Given the description of an element on the screen output the (x, y) to click on. 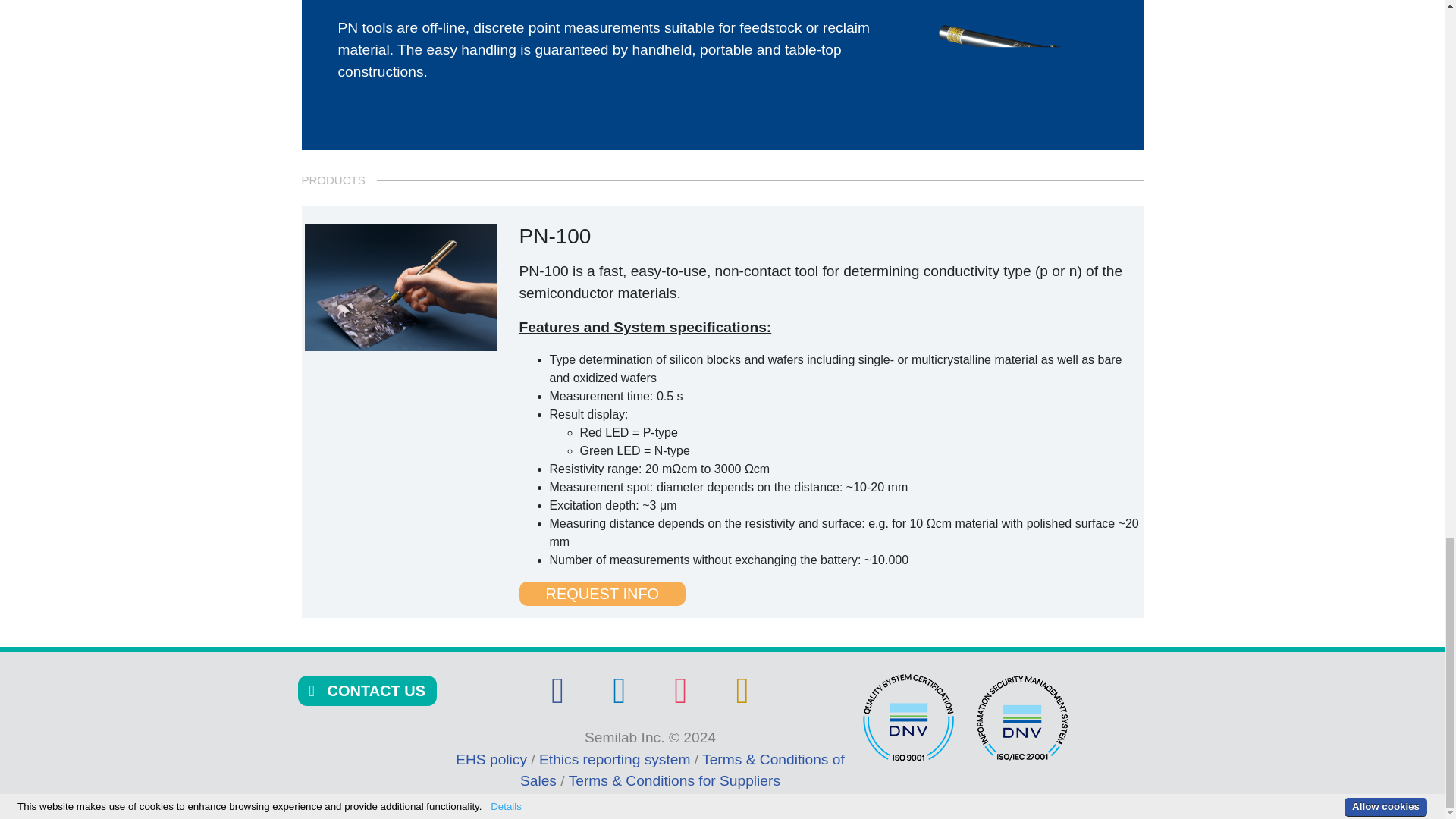
PN-100 (400, 287)
EHS policy (493, 759)
REQUEST INFO (601, 593)
   CONTACT US (366, 690)
Data Handling Policy (742, 698)
